Given the description of an element on the screen output the (x, y) to click on. 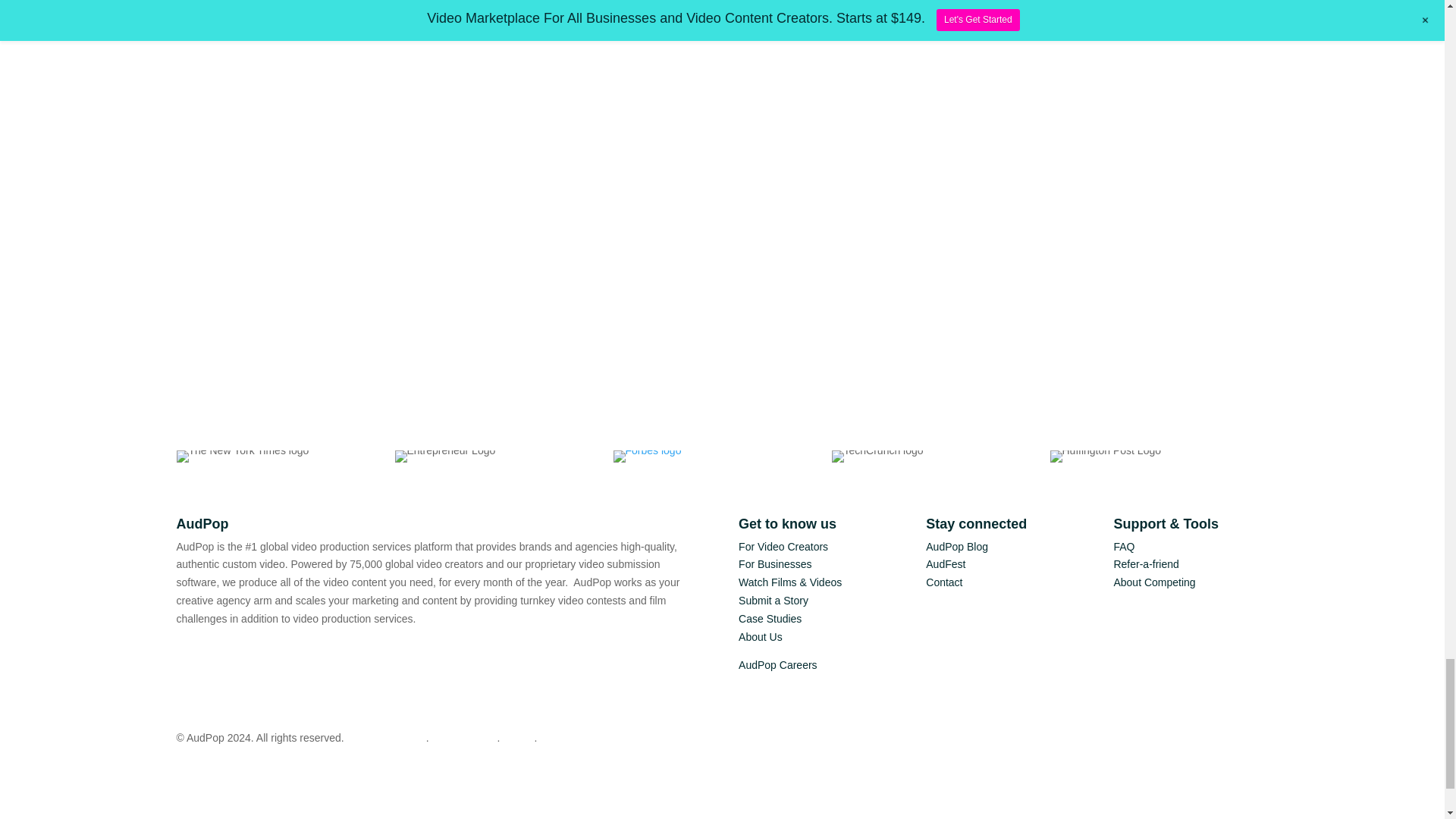
huffpost-logo (1104, 456)
Follow on LinkedIn (278, 656)
Follow on Twitter (247, 656)
Follow on Instagram (218, 656)
entrepreneur-logo (444, 456)
ny-times-logo (242, 456)
forbes-logo (646, 456)
techcrunch-logo (877, 456)
Follow on Facebook (188, 656)
